Given the description of an element on the screen output the (x, y) to click on. 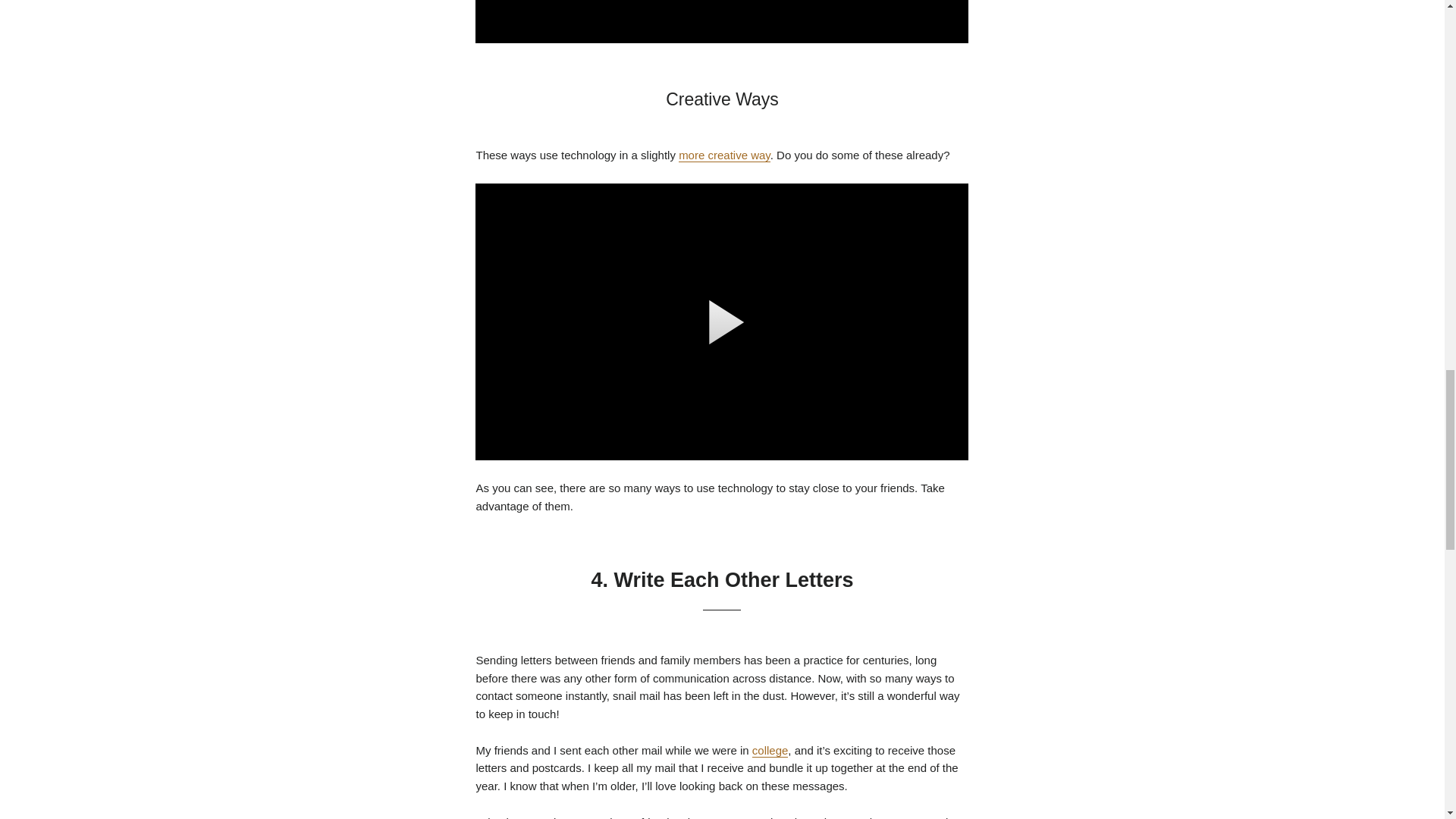
college (770, 750)
more creative way (724, 155)
